Given the description of an element on the screen output the (x, y) to click on. 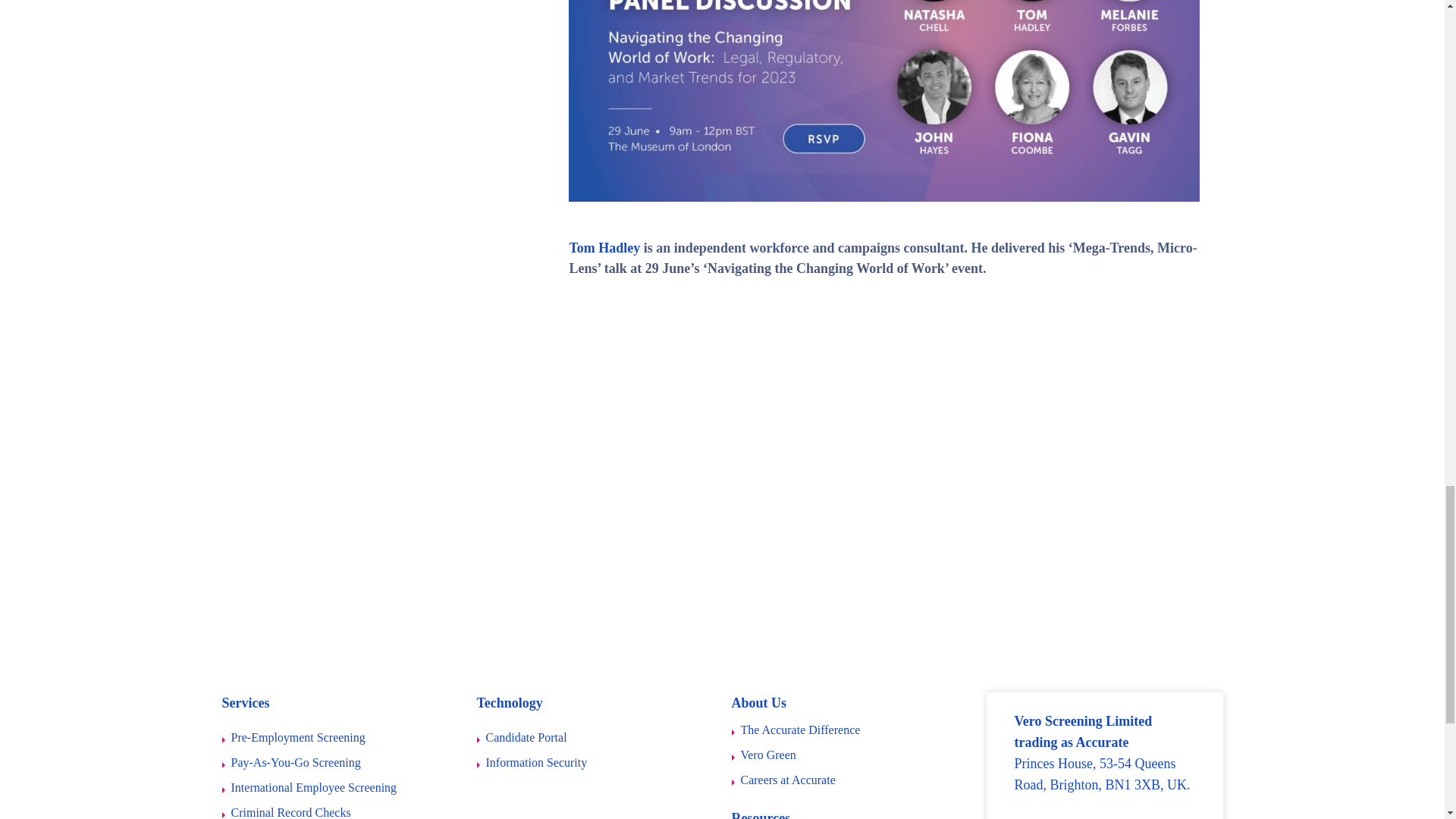
Tom Hadley (604, 246)
Services (245, 702)
Pay-As-You-Go Screening (290, 761)
Pre-Employment Screening (293, 737)
